Given the description of an element on the screen output the (x, y) to click on. 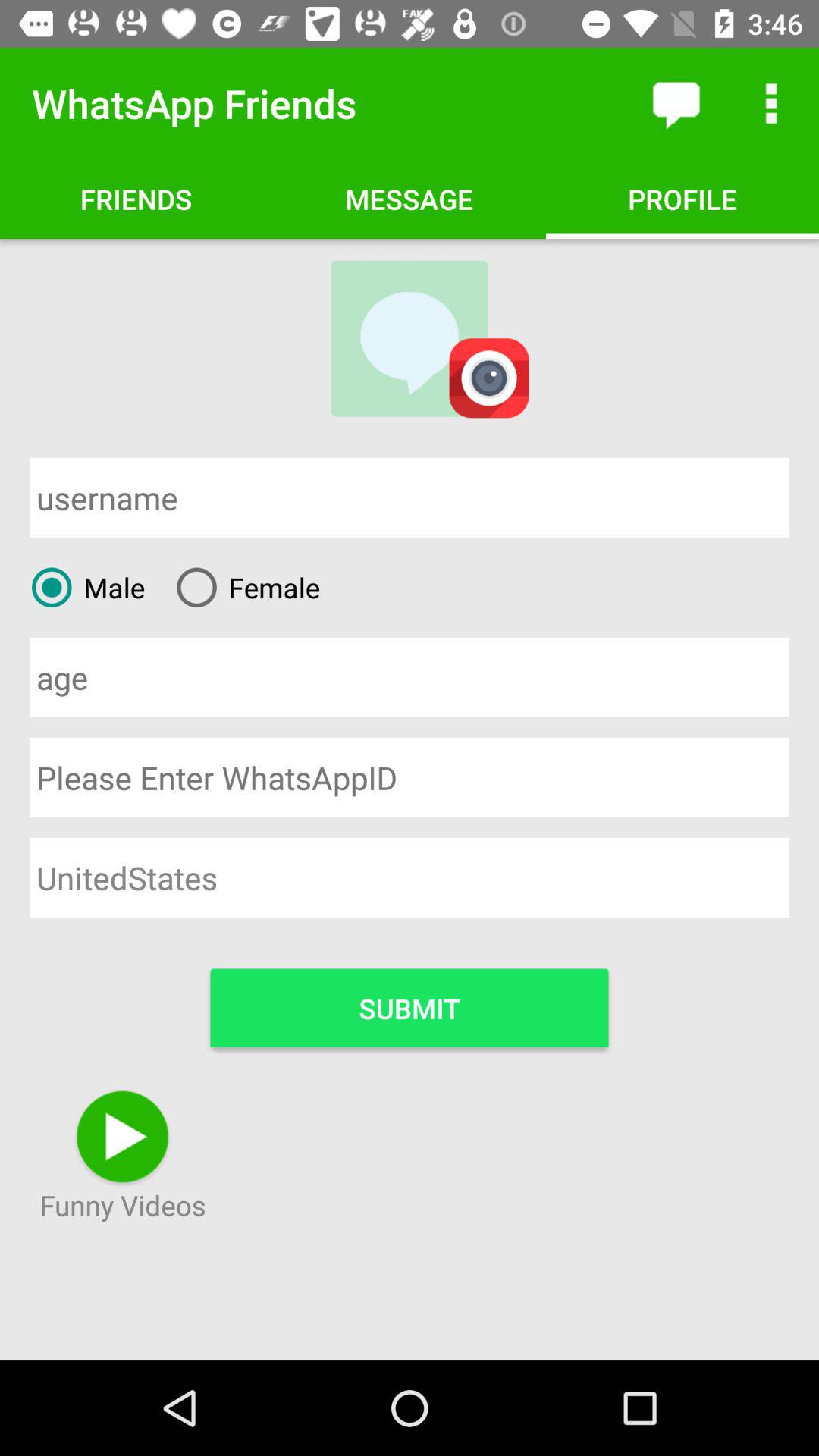
open the female (242, 587)
